Given the description of an element on the screen output the (x, y) to click on. 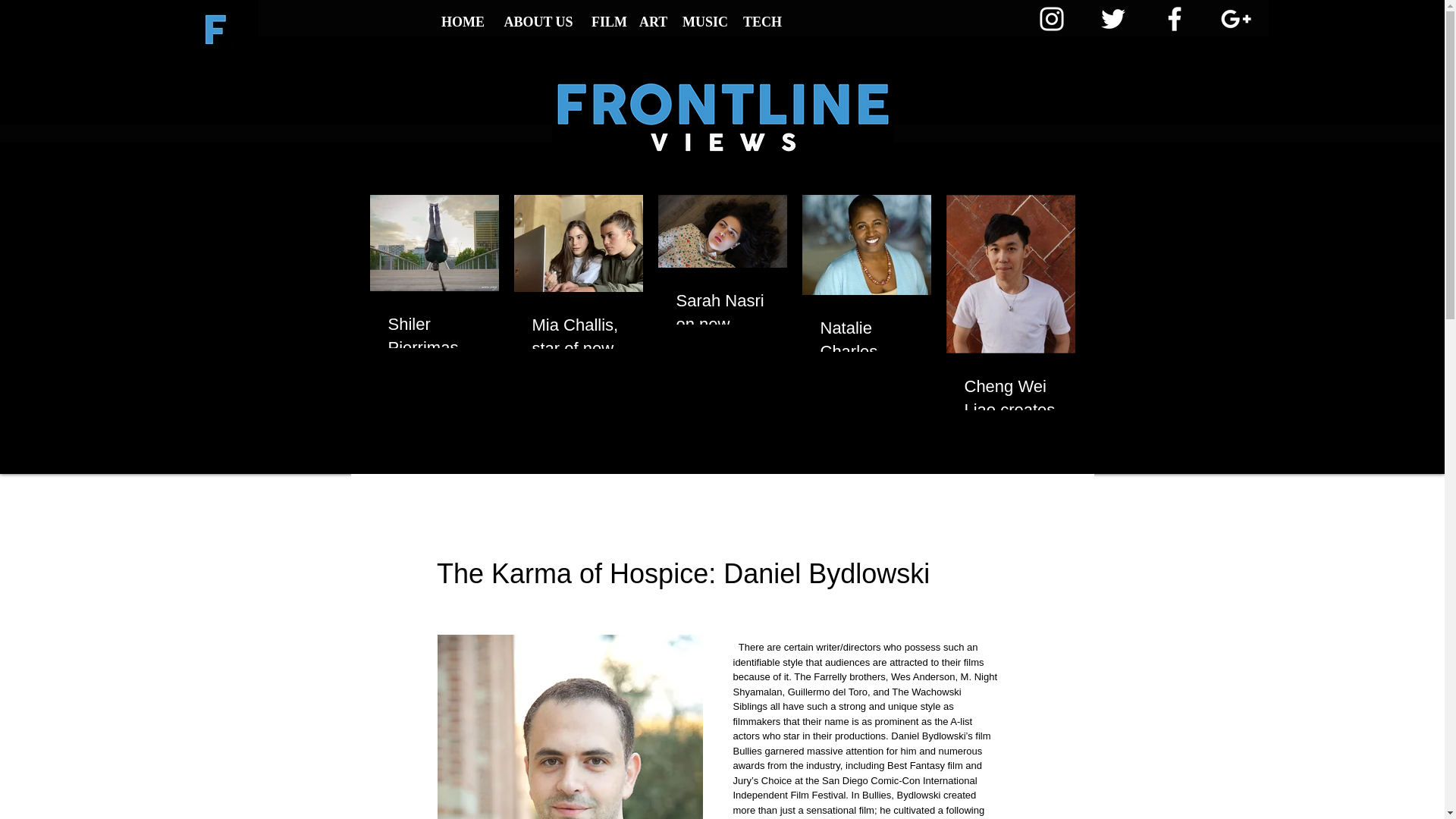
FILM (607, 21)
HOME (462, 21)
ABOUT US (538, 21)
ART (653, 21)
TECH (762, 21)
MUSIC (705, 21)
